Given the description of an element on the screen output the (x, y) to click on. 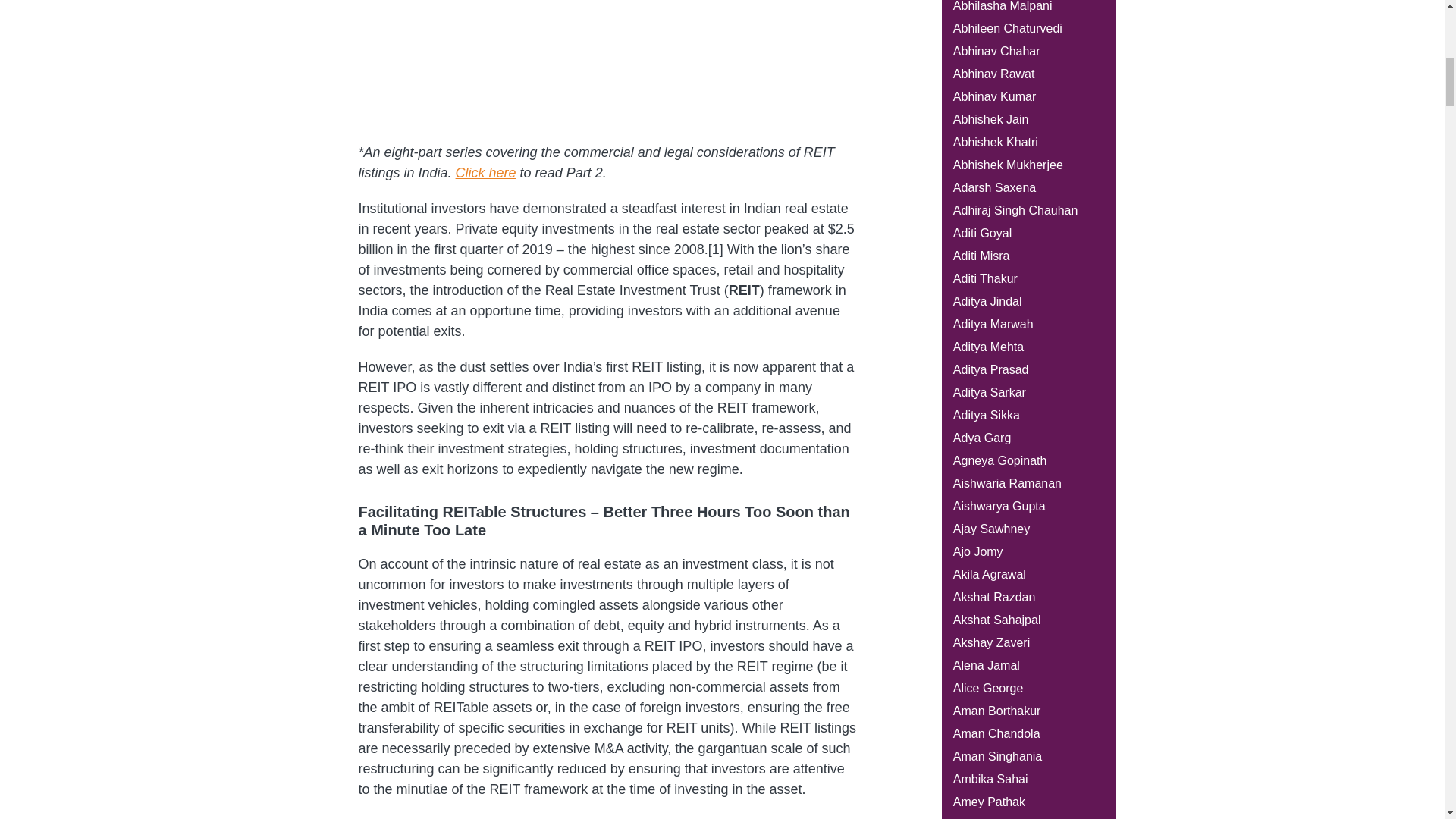
Click here (485, 172)
